Given the description of an element on the screen output the (x, y) to click on. 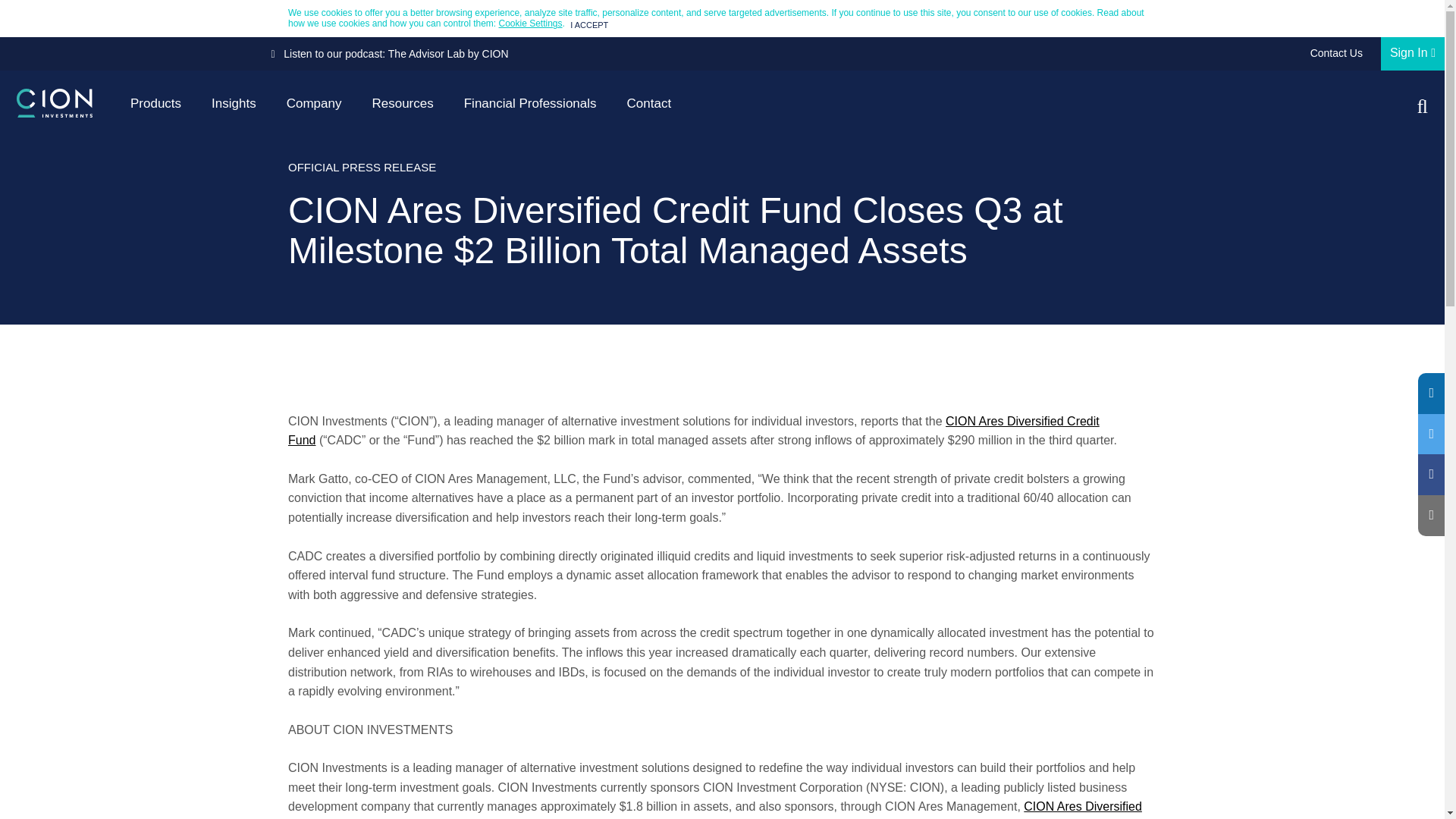
Home (54, 102)
Contact (649, 106)
Financial Professionals (529, 106)
   Listen to our podcast: The Advisor Lab by CION (389, 53)
Contact Us (1336, 53)
Products (155, 106)
Resources (402, 106)
Company (313, 106)
Cookie Settings (530, 23)
Insights (233, 106)
